Given the description of an element on the screen output the (x, y) to click on. 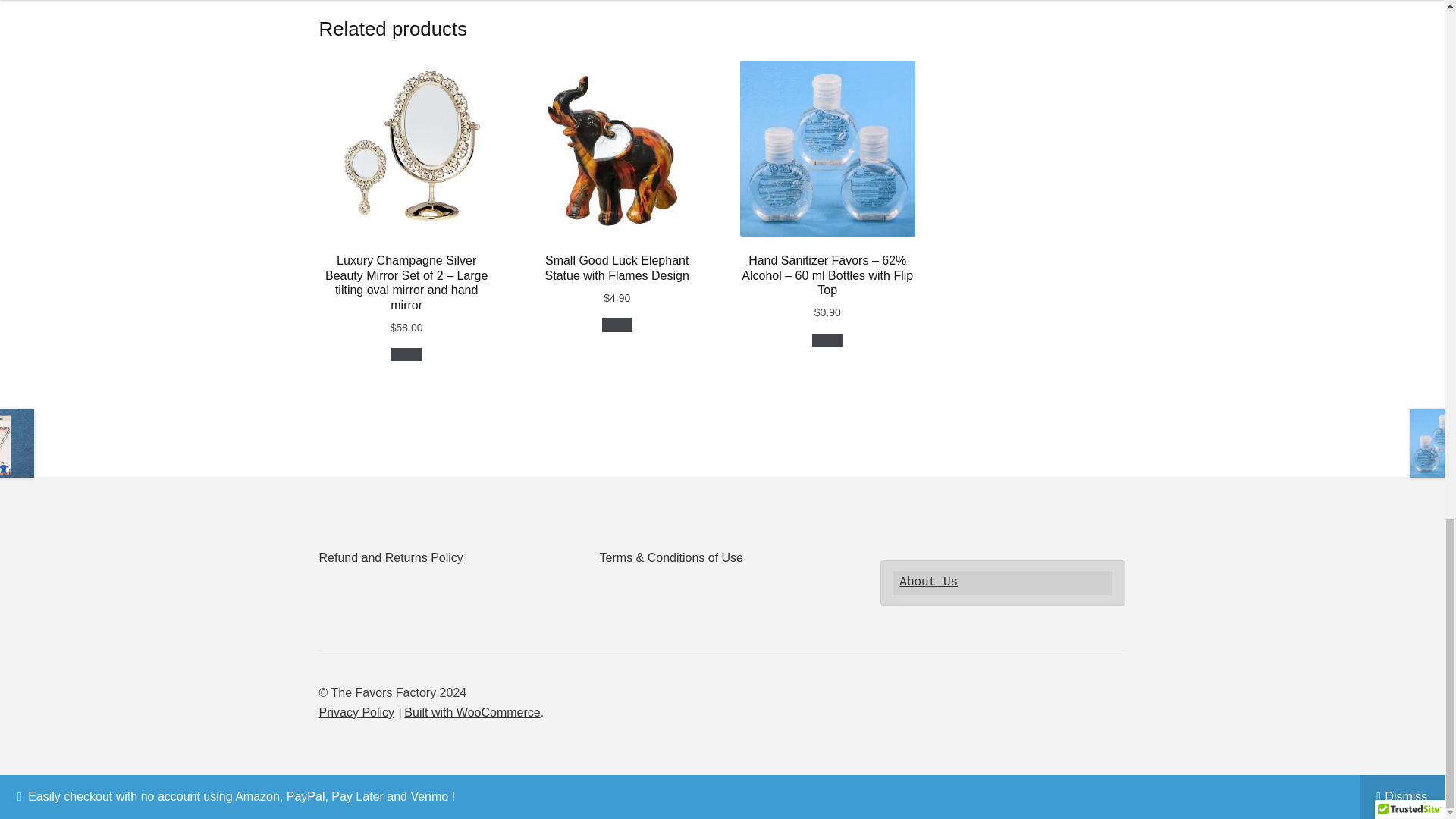
WooCommerce - The Best eCommerce Platform for WordPress (472, 712)
